Given the description of an element on the screen output the (x, y) to click on. 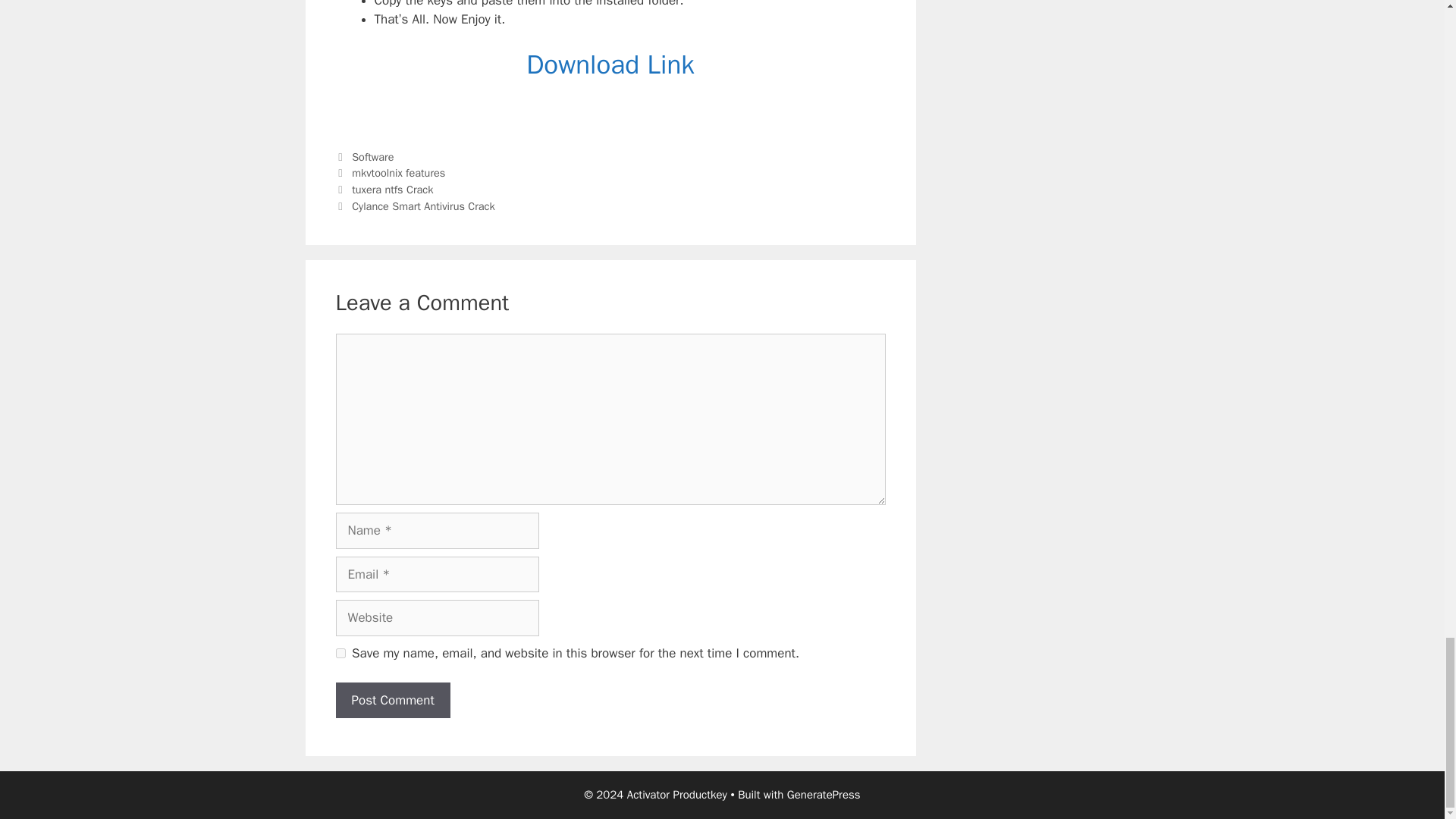
mkvtoolnix features (398, 172)
Software (372, 156)
Download Link (609, 64)
Post Comment (391, 700)
yes (339, 653)
Cylance Smart Antivirus Crack (423, 205)
tuxera ntfs Crack (392, 189)
Post Comment (391, 700)
